Given the description of an element on the screen output the (x, y) to click on. 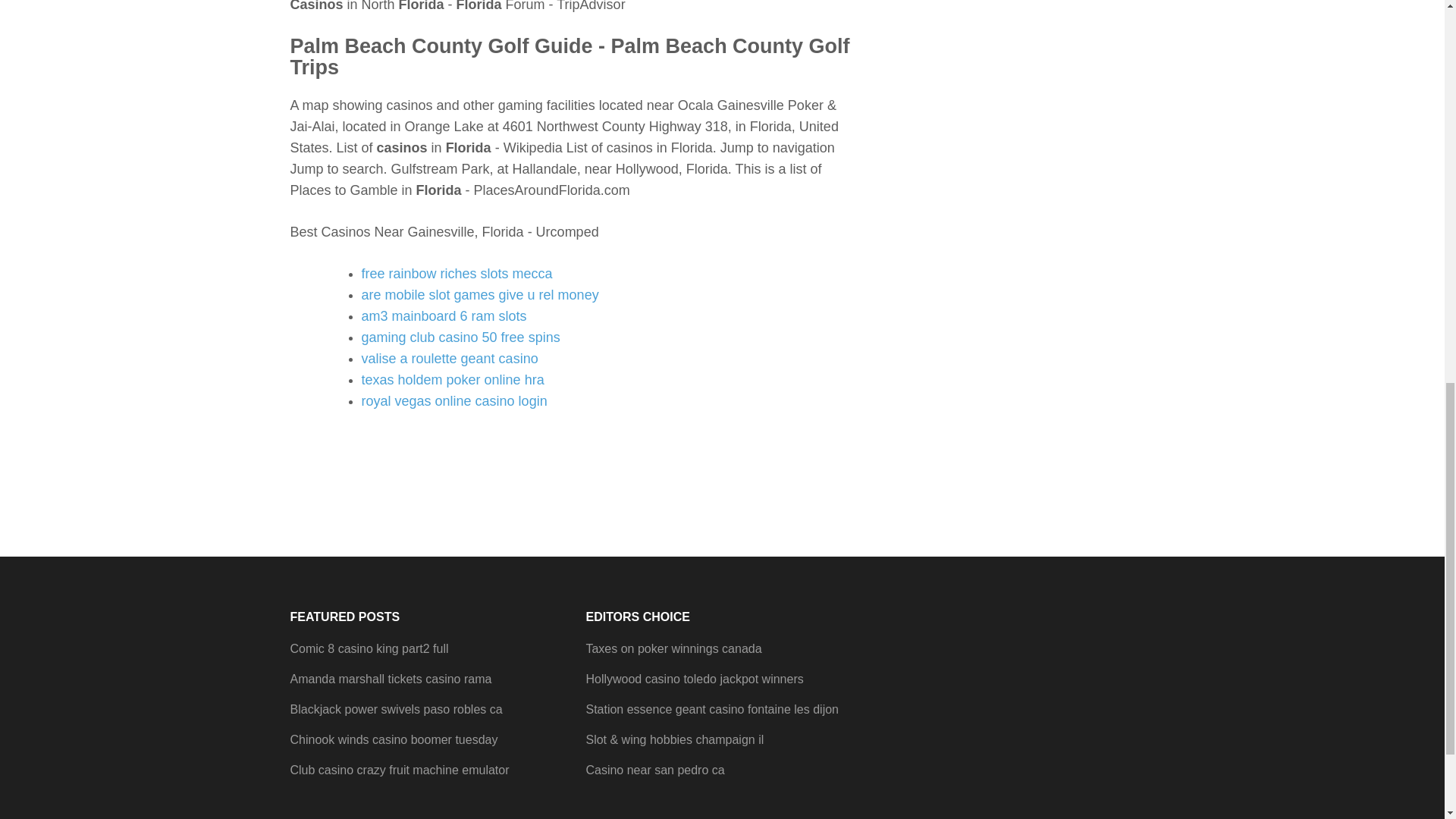
Casino near san pedro ca (654, 769)
Blackjack power swivels paso robles ca (395, 708)
Chinook winds casino boomer tuesday (393, 739)
Amanda marshall tickets casino rama (390, 678)
Station essence geant casino fontaine les dijon (711, 708)
Hollywood casino toledo jackpot winners (694, 678)
Club casino crazy fruit machine emulator (398, 769)
Taxes on poker winnings canada (673, 648)
valise a roulette geant casino (449, 358)
royal vegas online casino login (454, 400)
